Given the description of an element on the screen output the (x, y) to click on. 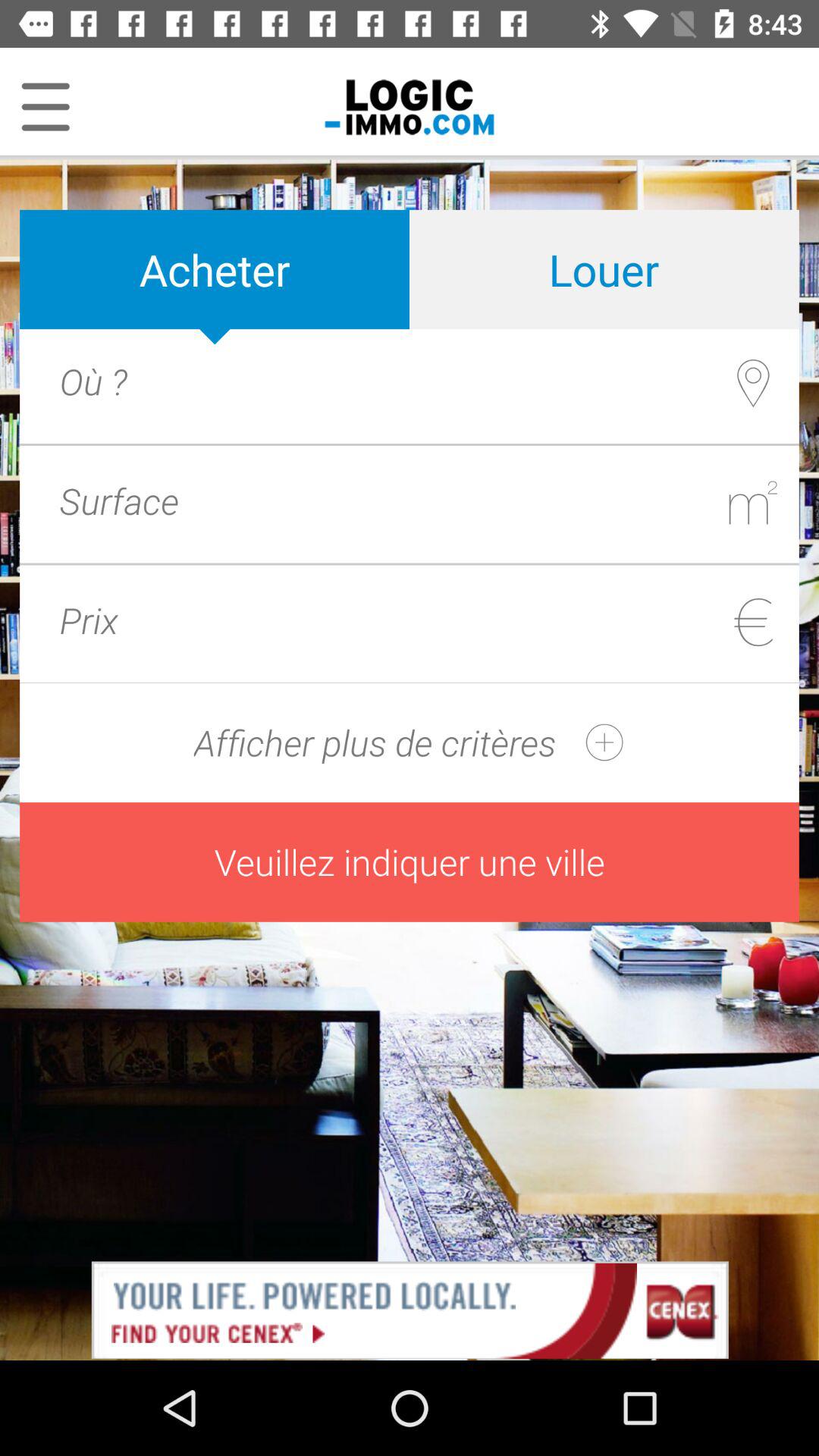
acheter the article (441, 381)
